Given the description of an element on the screen output the (x, y) to click on. 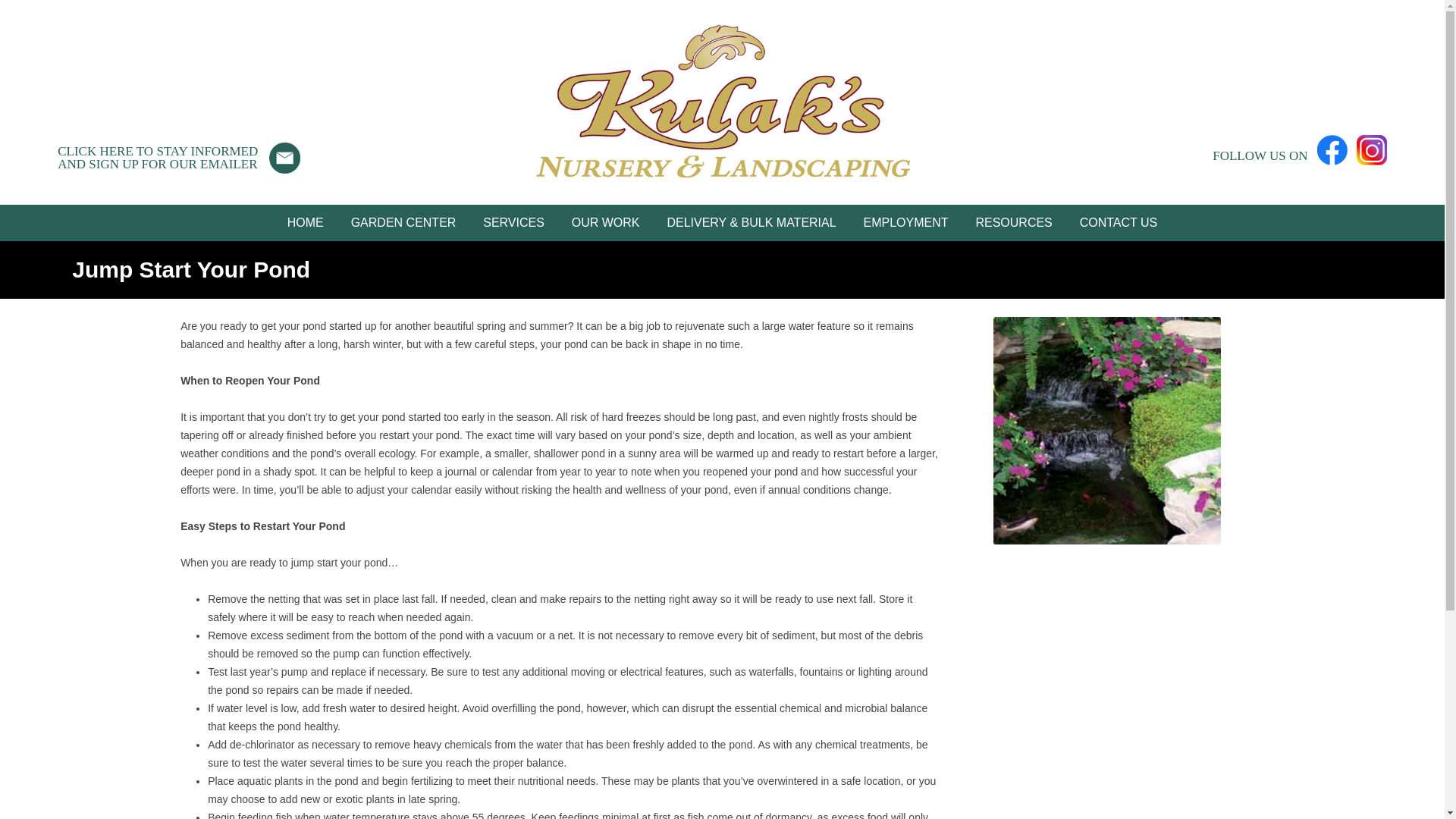
HOME (305, 222)
SERVICES (513, 222)
Skip to content (757, 209)
GARDEN CENTER (403, 222)
CONTACT US (1118, 222)
RESOURCES (1013, 222)
EMPLOYMENT (905, 222)
IN THE NURSERY (157, 157)
Skip to content (1043, 259)
